Given the description of an element on the screen output the (x, y) to click on. 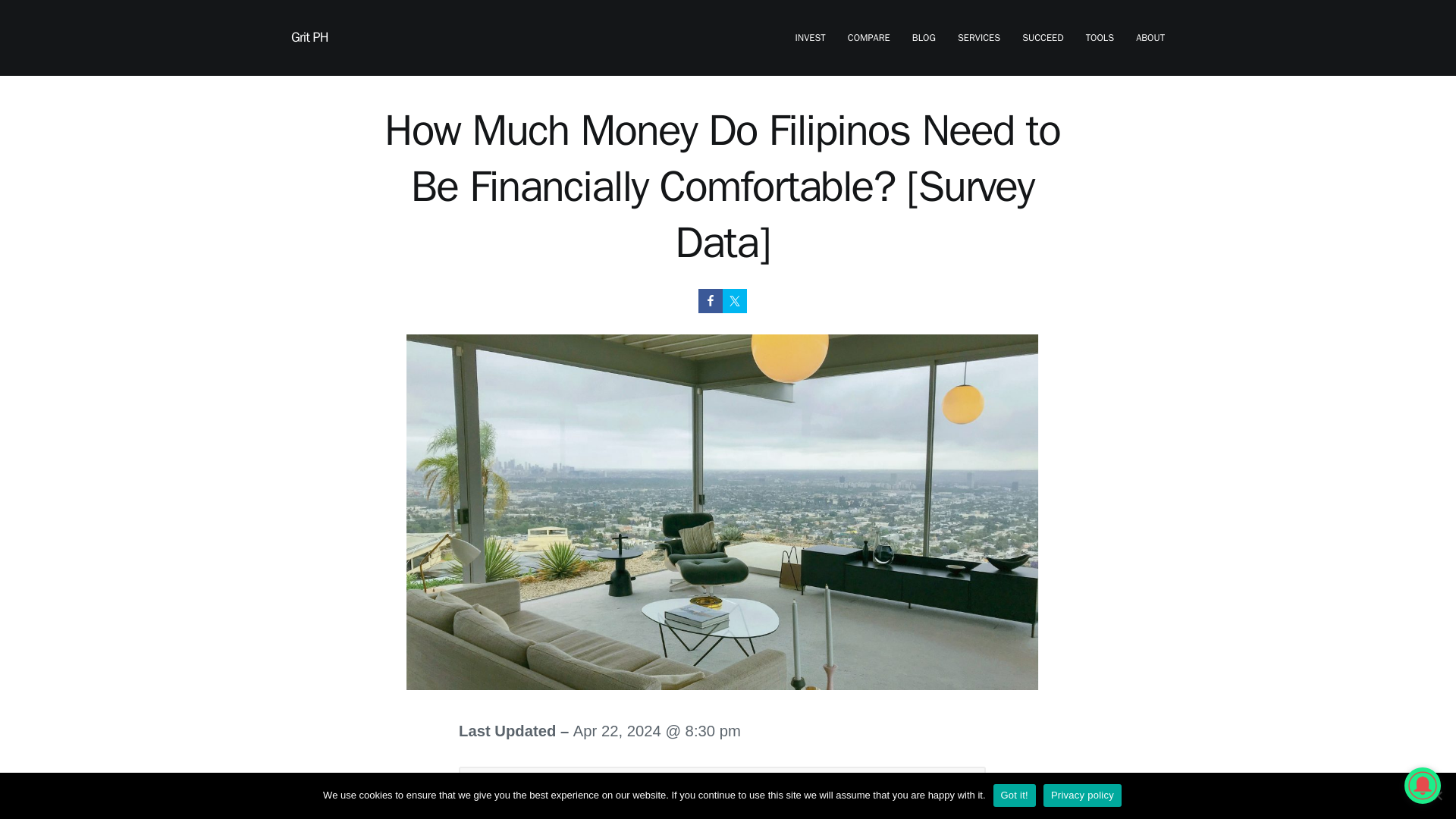
Share on Twitter (733, 300)
INVEST (809, 37)
BLOG (924, 37)
Share on Facebook (709, 300)
COMPARE (868, 37)
SERVICES (979, 37)
Grit PH (310, 36)
SUCCEED (1042, 37)
